Given the description of an element on the screen output the (x, y) to click on. 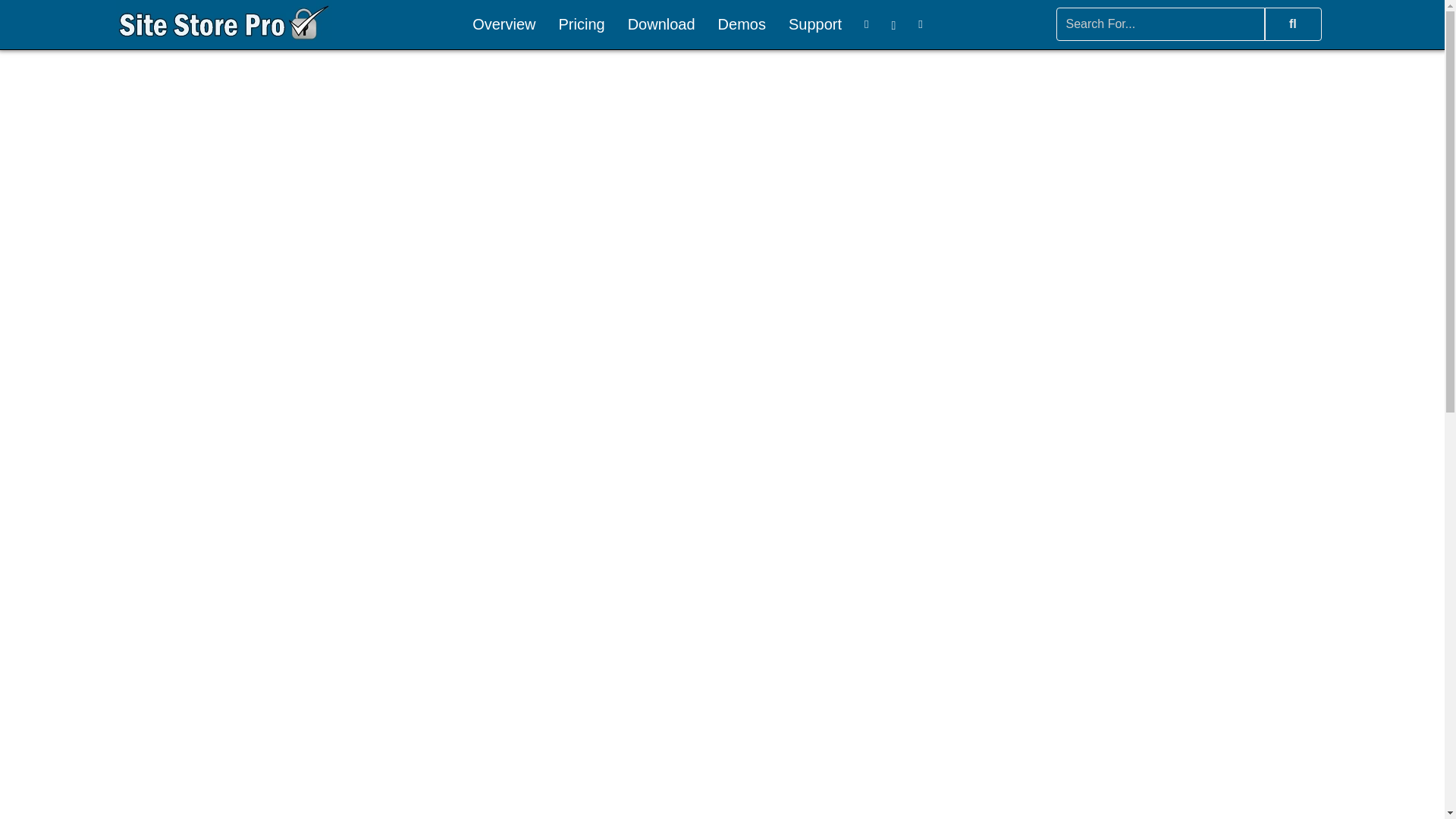
Support (815, 24)
Overview (504, 24)
Download (660, 24)
Demos (741, 24)
Pricing (581, 24)
